Given the description of an element on the screen output the (x, y) to click on. 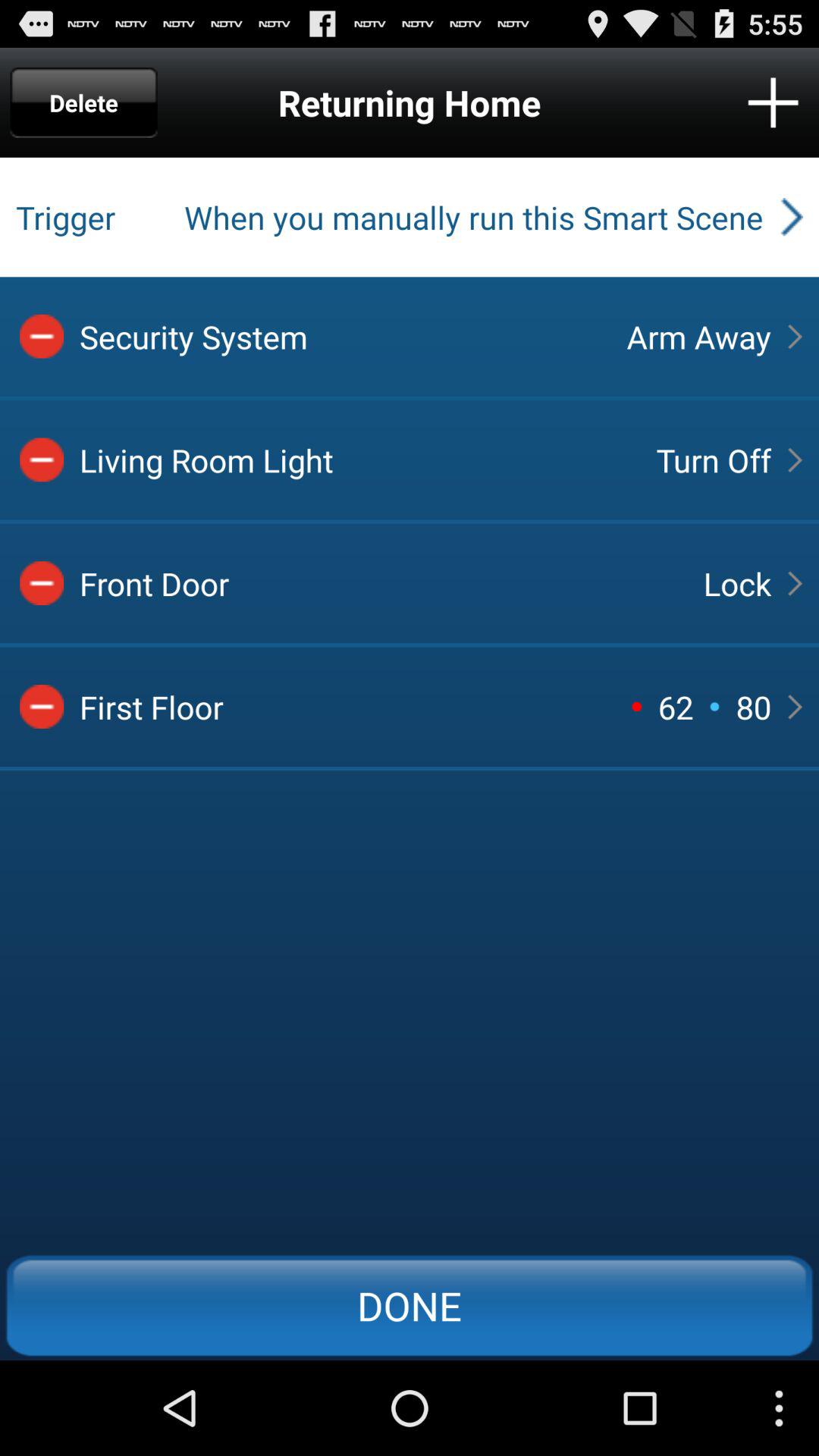
choose living room light item (354, 459)
